Given the description of an element on the screen output the (x, y) to click on. 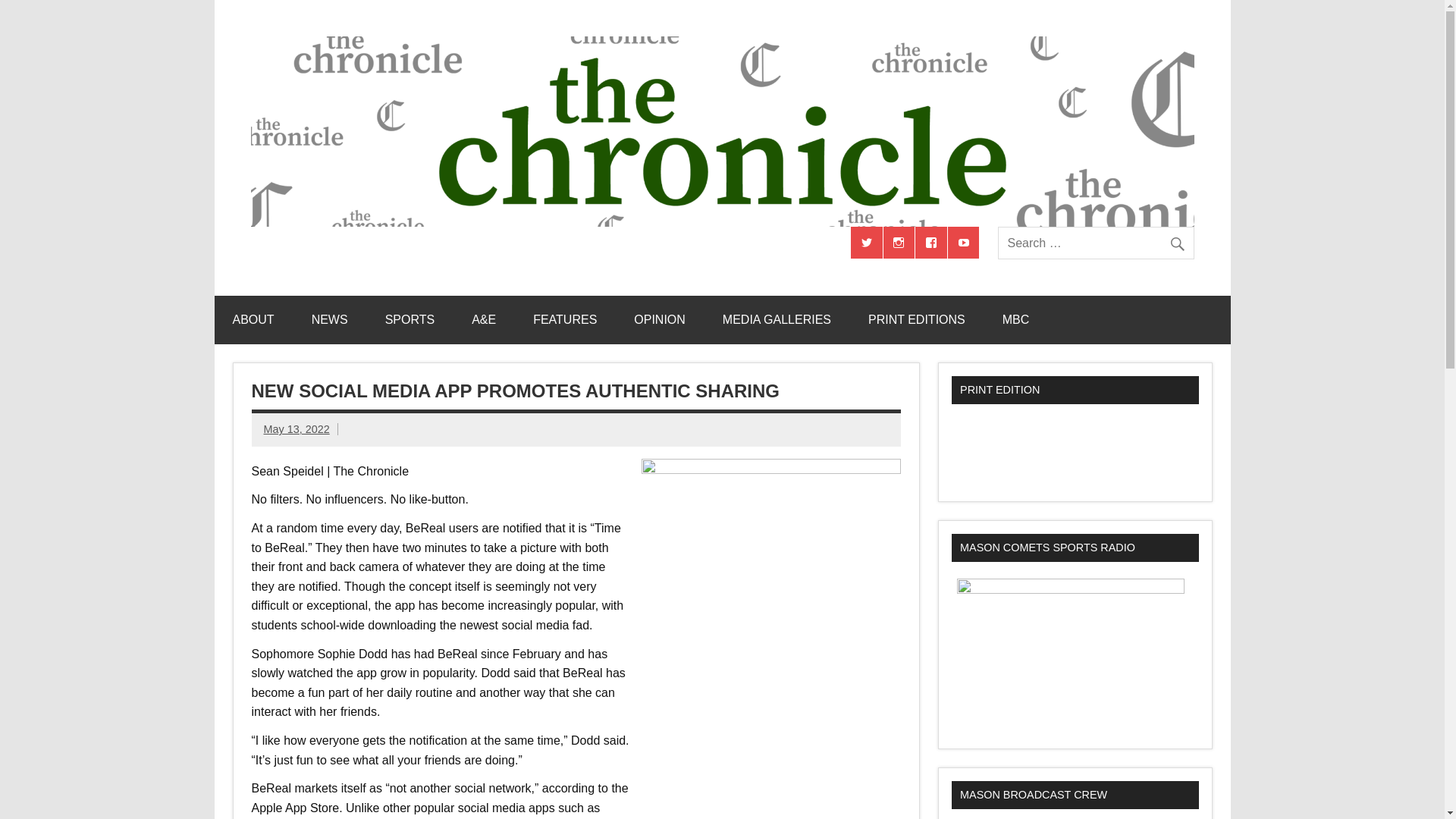
SPORTS (409, 319)
May 13, 2022 (296, 428)
Instagram (899, 242)
FEATURES (564, 319)
MHS Chronicle Online (409, 241)
Facebook (931, 242)
ABOUT (253, 319)
OPINION (659, 319)
PRINT EDITIONS (917, 319)
MEDIA GALLERIES (776, 319)
MBC (1016, 319)
NEWS (330, 319)
7:45 am (296, 428)
